Given the description of an element on the screen output the (x, y) to click on. 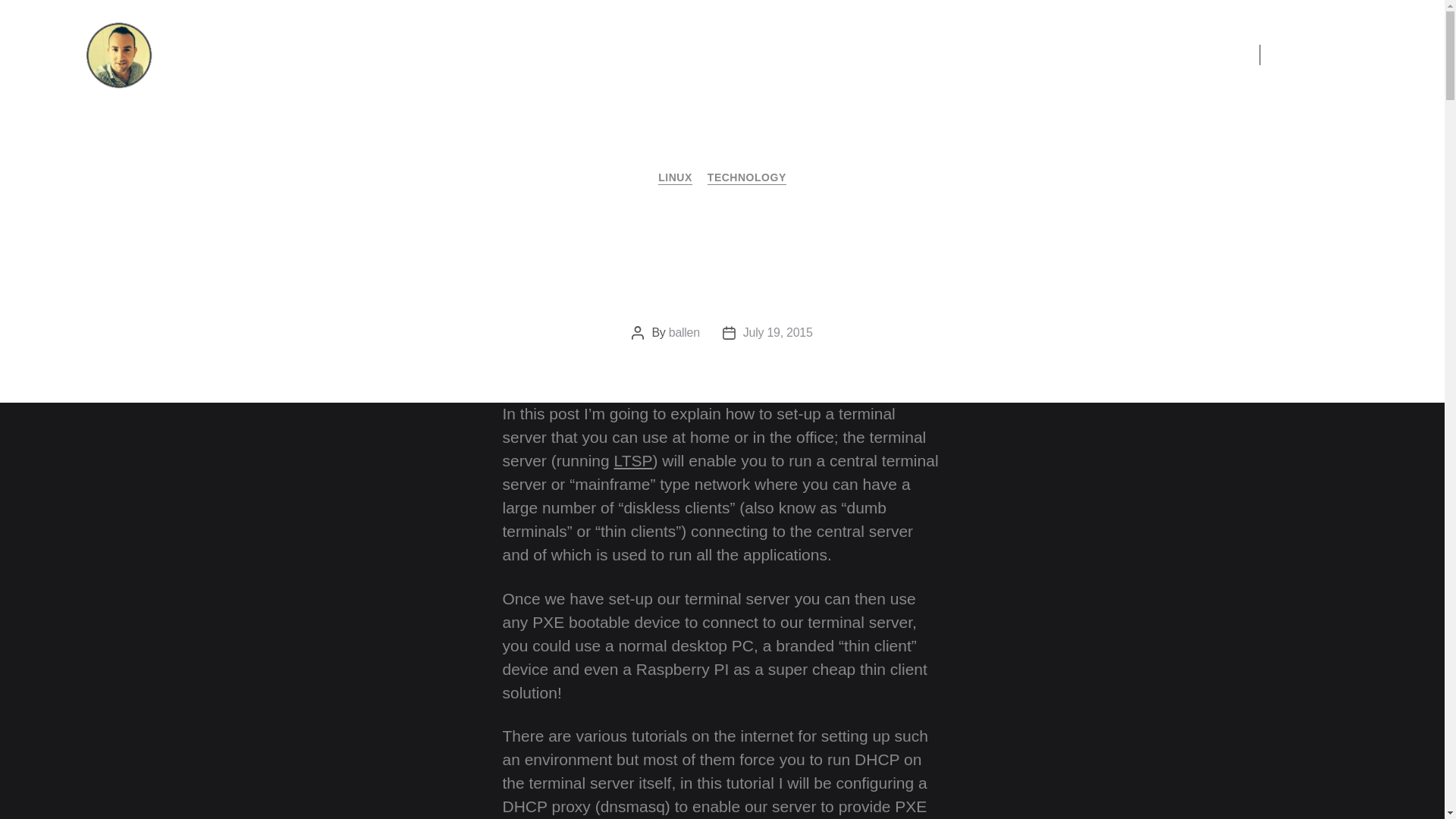
Search (1324, 55)
Menu (1197, 55)
July 19, 2015 (777, 332)
LTSP (633, 460)
LINUX (675, 178)
ballen (684, 332)
TECHNOLOGY (746, 178)
